Given the description of an element on the screen output the (x, y) to click on. 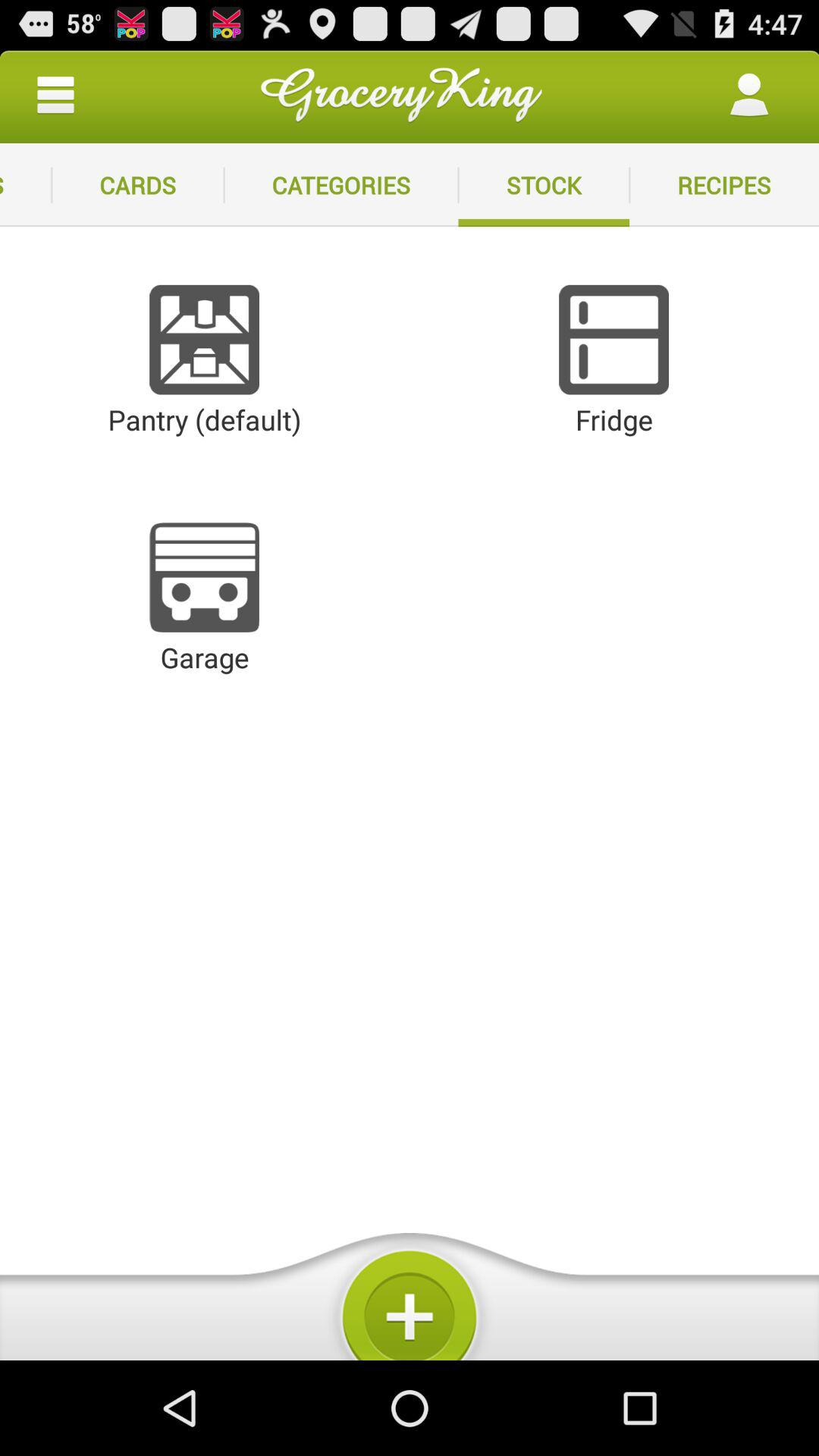
select the icon next to the cards item (25, 184)
